Given the description of an element on the screen output the (x, y) to click on. 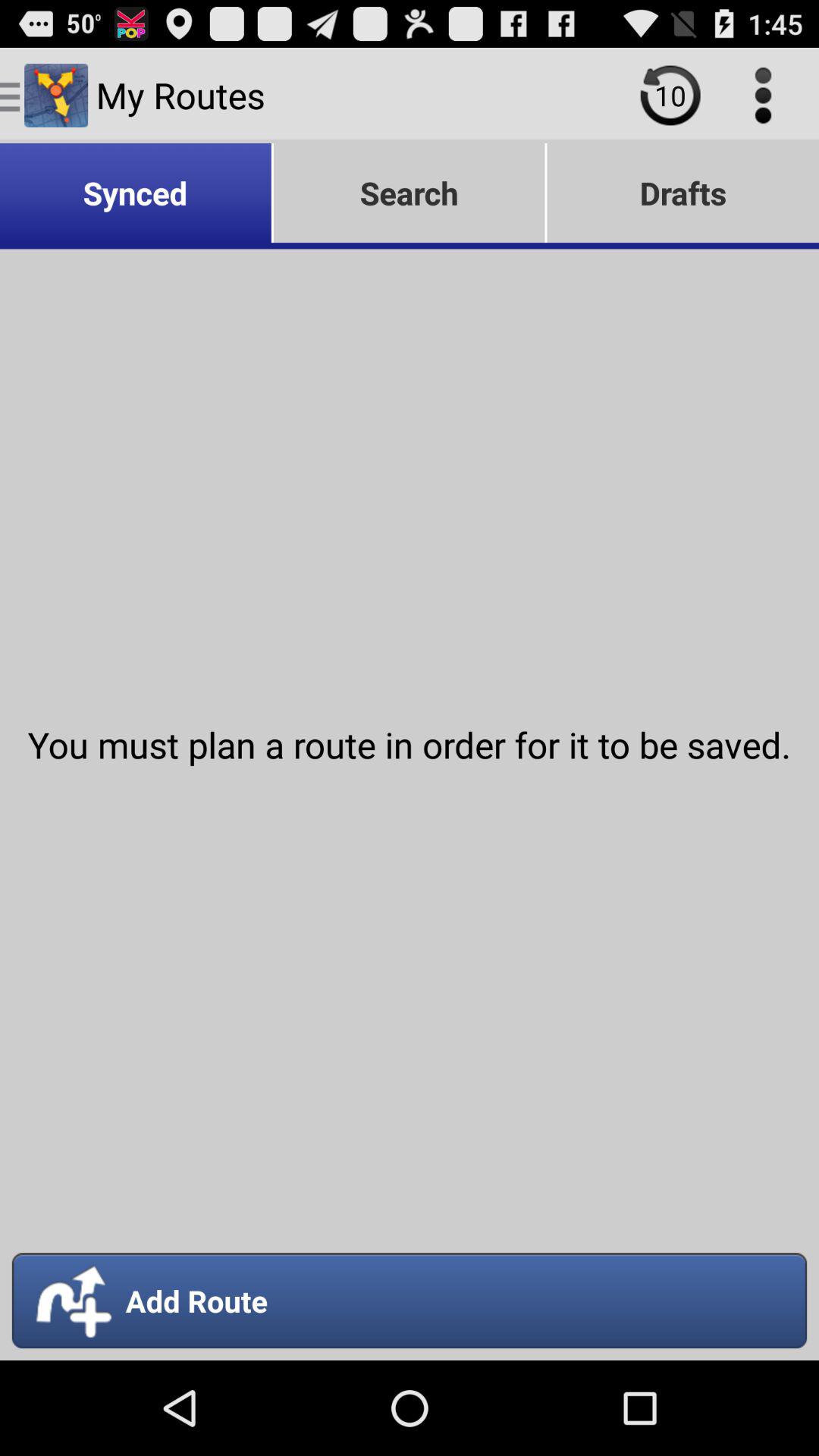
click icon next to the my routes app (670, 95)
